Given the description of an element on the screen output the (x, y) to click on. 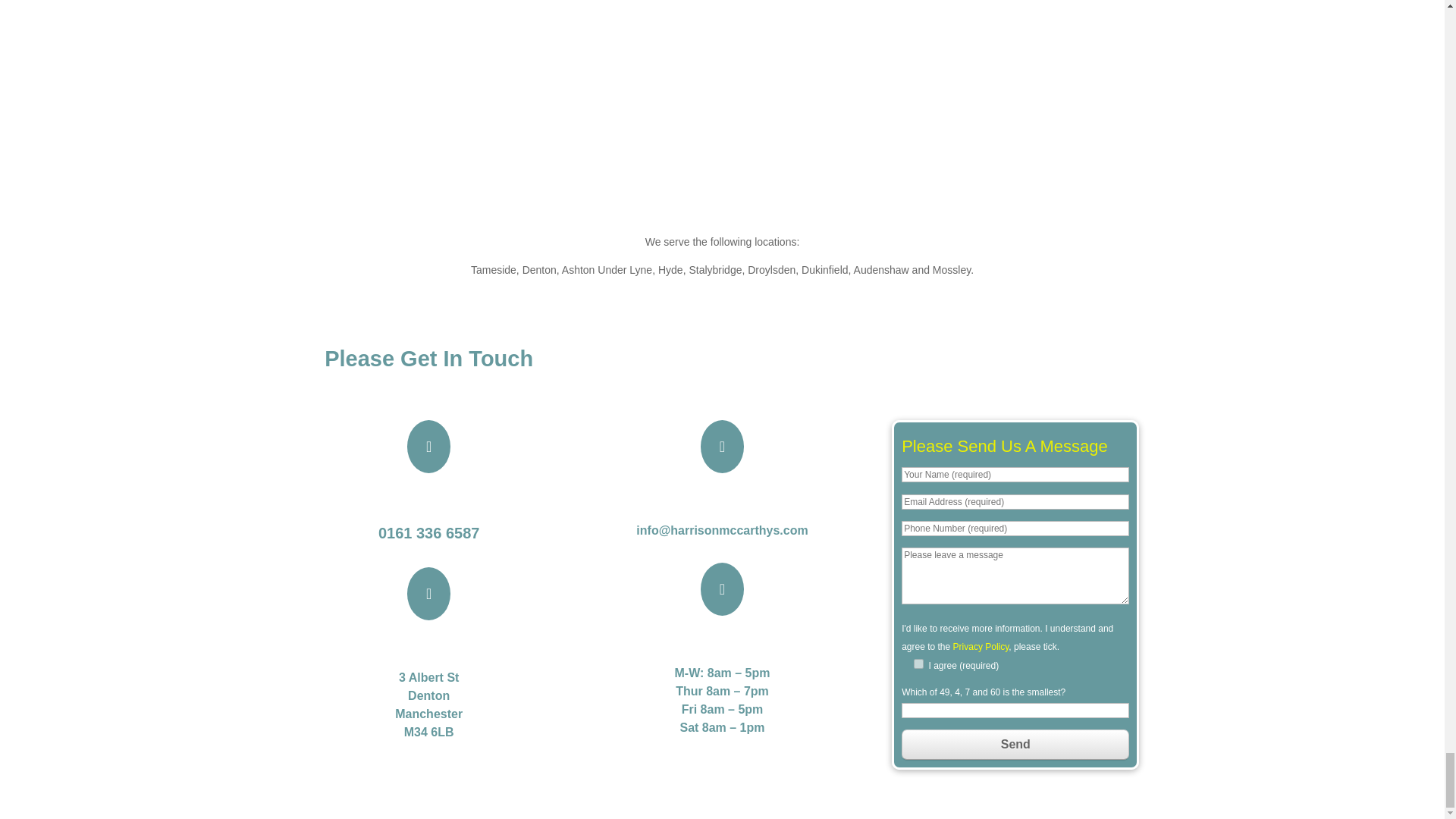
Dukinfield (824, 269)
Audenshaw (880, 269)
Send (1015, 744)
Privacy Policy (981, 646)
Stalybridge (714, 269)
Ashton Under Lyne (607, 269)
Tameside (493, 269)
Send (1015, 744)
Mossley (952, 269)
Droylsden (771, 269)
Hyde (670, 269)
Denton (539, 269)
